Given the description of an element on the screen output the (x, y) to click on. 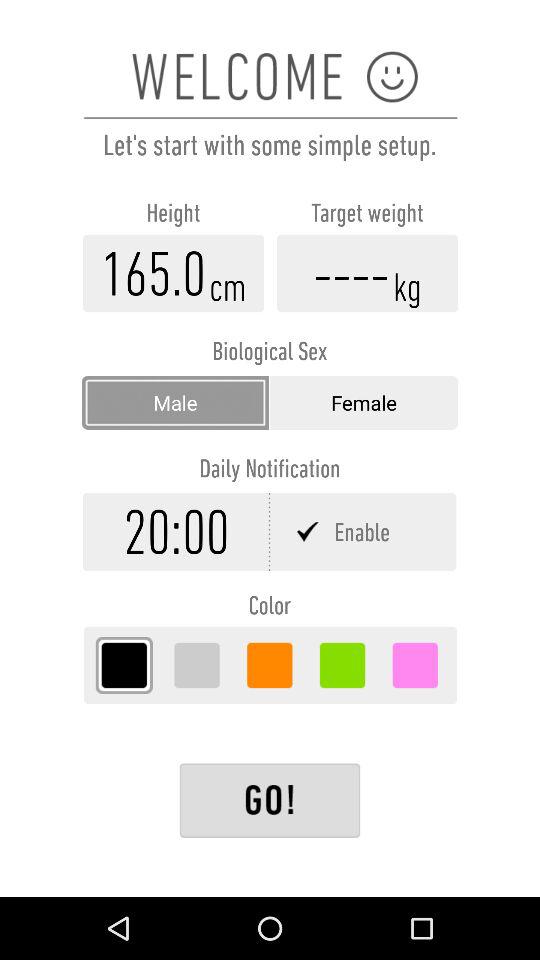
color (269, 665)
